Given the description of an element on the screen output the (x, y) to click on. 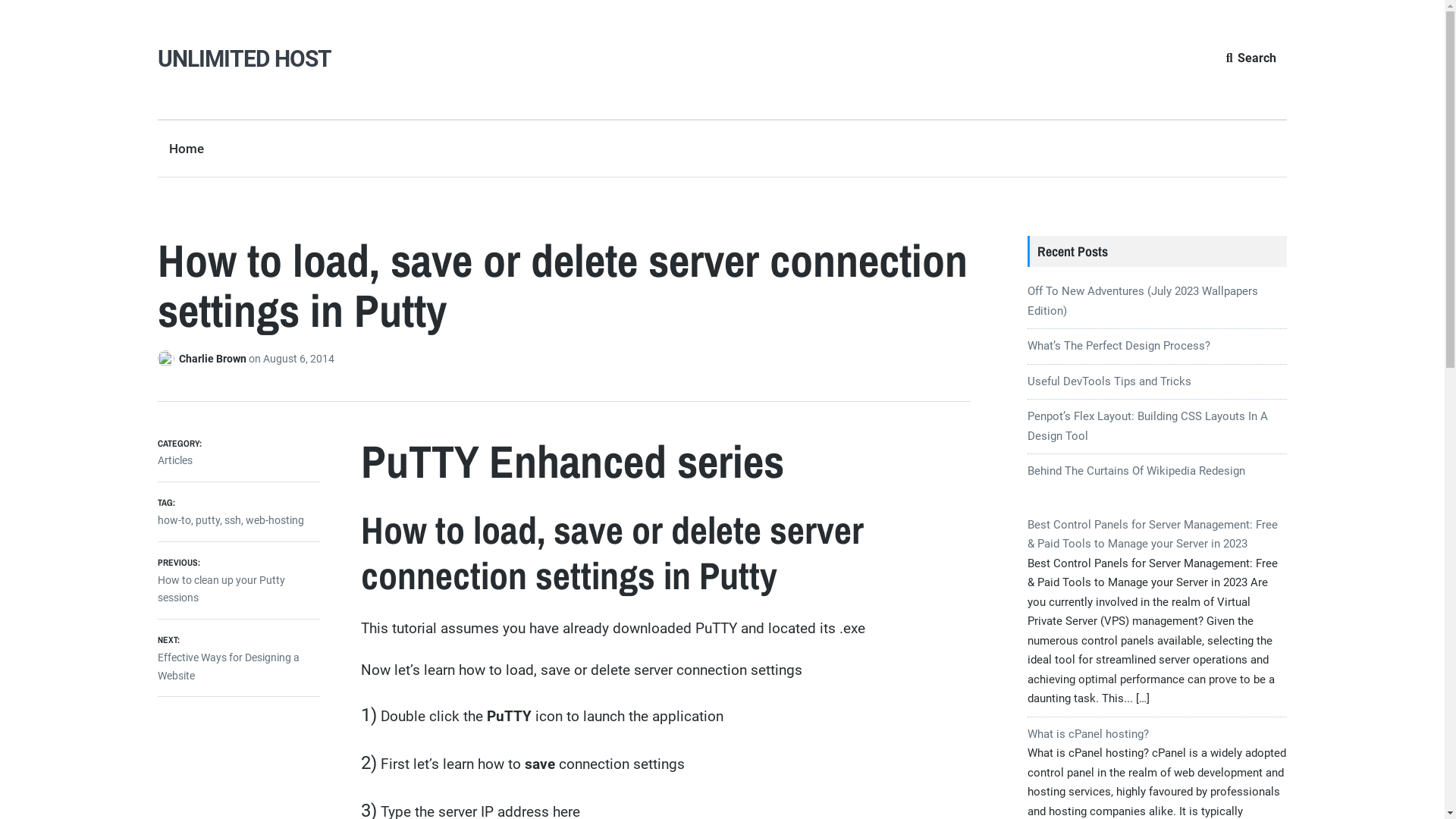
how-to Element type: text (174, 520)
Home Element type: text (186, 148)
Articles Element type: text (174, 460)
ssh Element type: text (232, 520)
Behind The Curtains Of Wikipedia Redesign Element type: text (1136, 470)
NEXT:
Next post:
Effective Ways for Designing a Website Element type: text (238, 657)
Charlie Brown Element type: text (213, 358)
Posts by Charlie Brown Element type: hover (167, 358)
Useful DevTools Tips and Tricks Element type: text (1109, 381)
UNLIMITED HOST Element type: text (244, 58)
What is cPanel hosting? Element type: text (1087, 733)
Off To New Adventures (July 2023 Wallpapers Edition) Element type: text (1142, 300)
PREVIOUS:
Previous post:
How to clean up your Putty sessions Element type: text (238, 579)
putty Element type: text (207, 520)
Search Element type: text (1250, 58)
web-hosting Element type: text (274, 520)
